Given the description of an element on the screen output the (x, y) to click on. 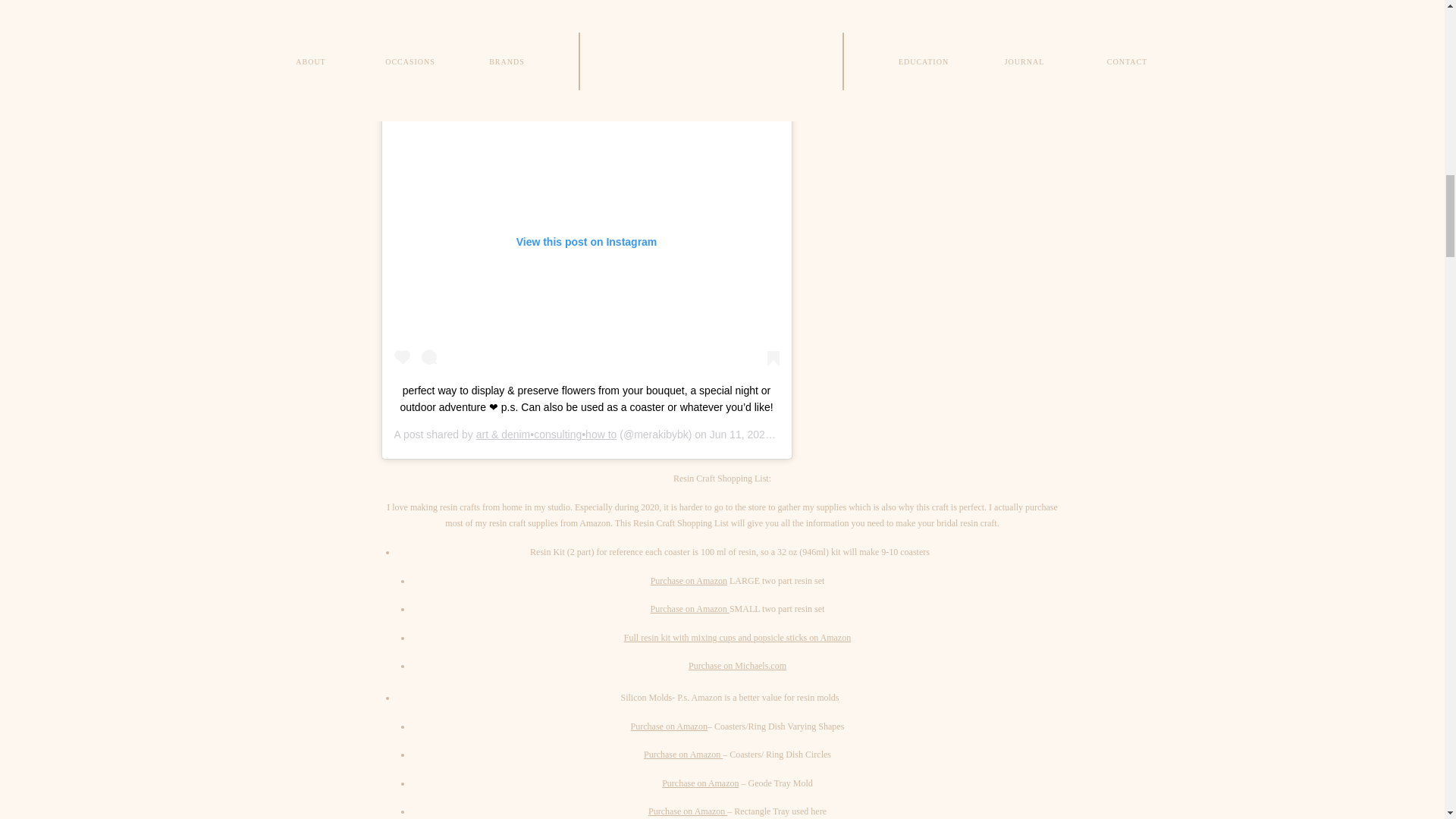
Purchase on Michaels.com (737, 665)
Purchase on Amazon  (682, 754)
Purchase on Amazon  (686, 810)
Purchase on Amazon (688, 580)
Purchase on Amazon (700, 783)
Purchase on Amazon  (689, 608)
Purchase on Amazon (668, 726)
